Given the description of an element on the screen output the (x, y) to click on. 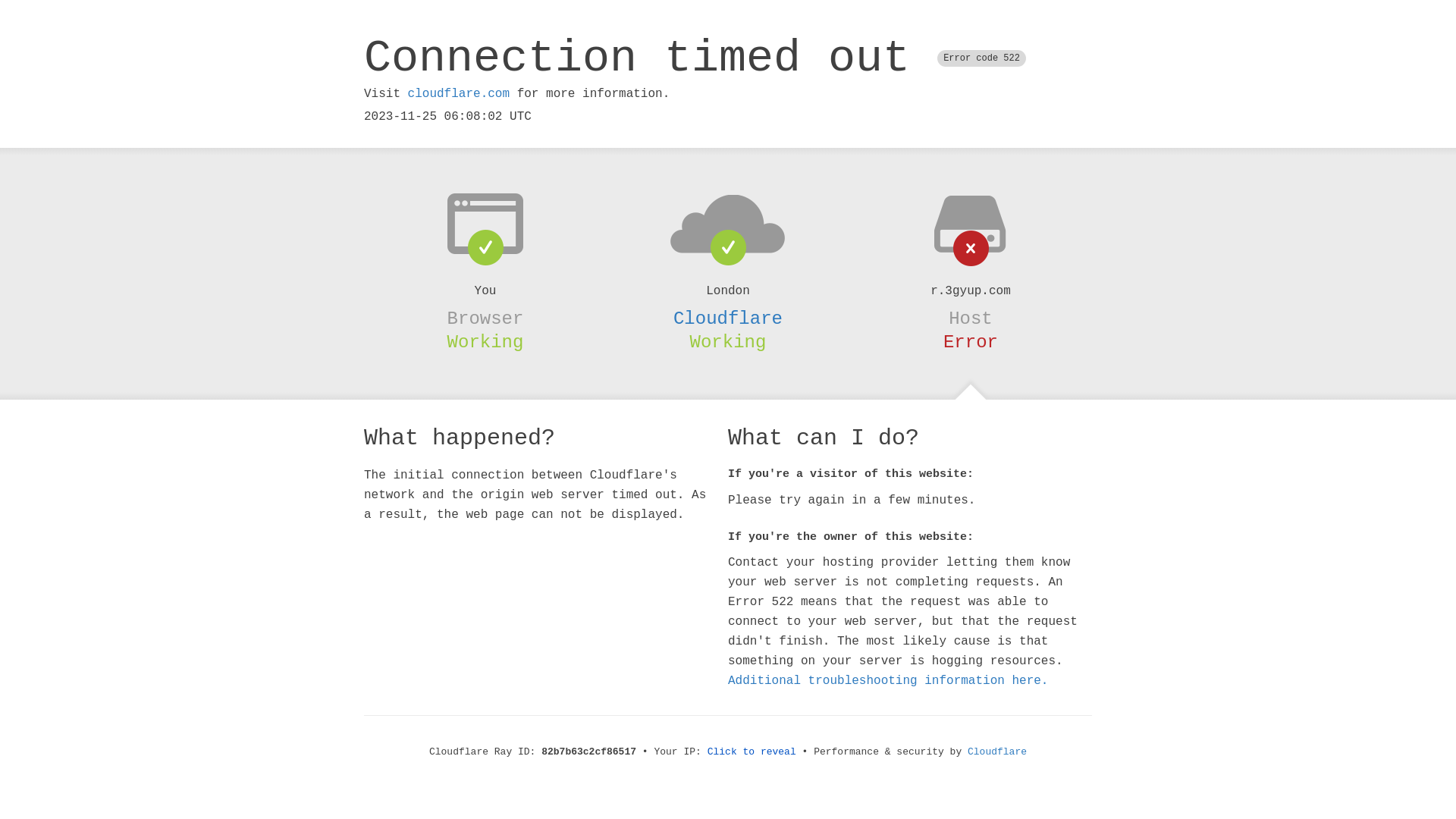
Click to reveal Element type: text (751, 751)
Cloudflare Element type: text (727, 318)
cloudflare.com Element type: text (458, 93)
Cloudflare Element type: text (996, 751)
Additional troubleshooting information here. Element type: text (888, 680)
